Given the description of an element on the screen output the (x, y) to click on. 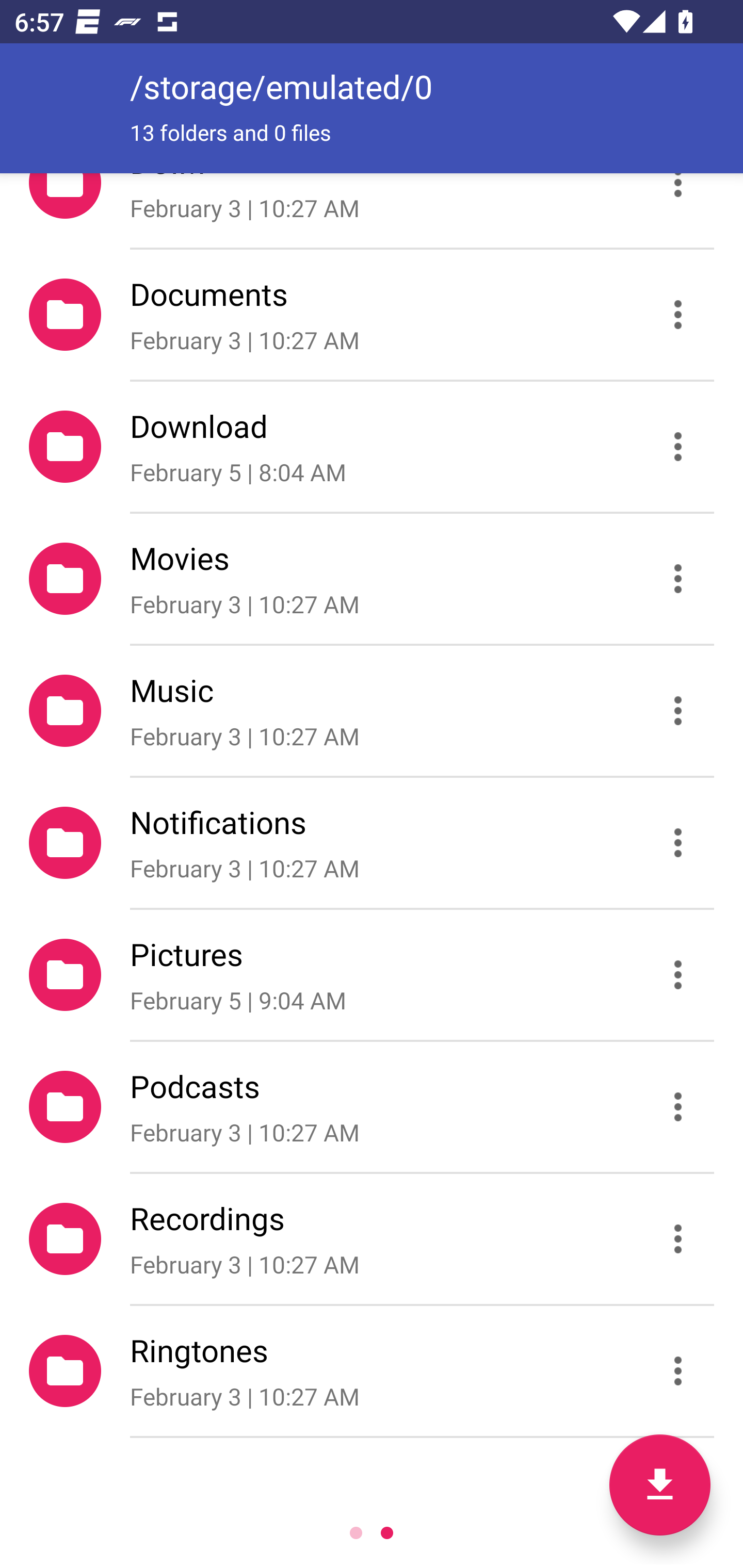
DCIM February 3 | 10:27 AM (371, 210)
Documents February 3 | 10:27 AM (371, 314)
Download February 5 | 8:04 AM (371, 446)
Movies February 3 | 10:27 AM (371, 579)
Music February 3 | 10:27 AM (371, 711)
Notifications February 3 | 10:27 AM (371, 842)
Pictures February 5 | 9:04 AM (371, 974)
Podcasts February 3 | 10:27 AM (371, 1106)
Recordings February 3 | 10:27 AM (371, 1239)
Ringtones February 3 | 10:27 AM (371, 1371)
